Given the description of an element on the screen output the (x, y) to click on. 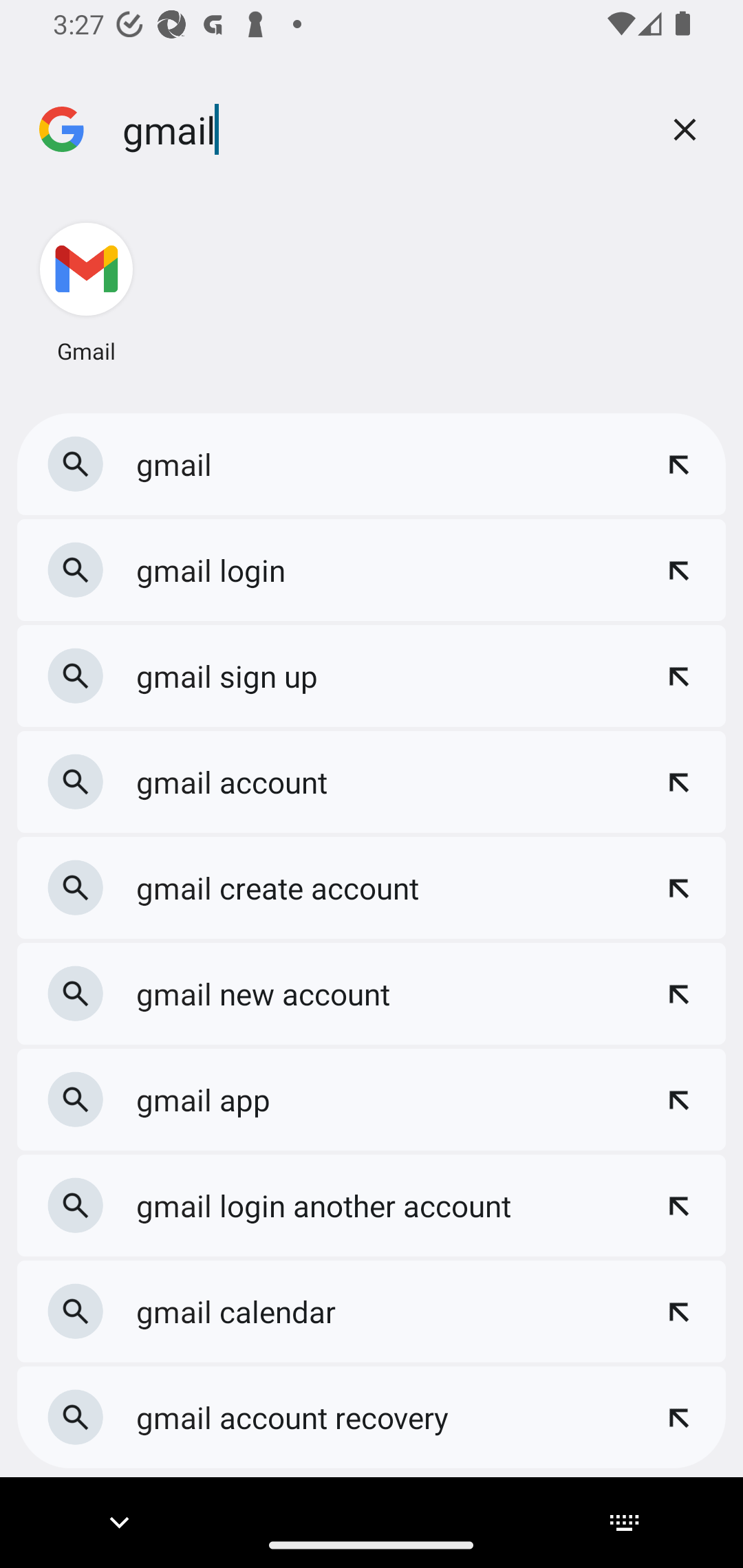
gmail (379, 129)
Clear search box (685, 128)
Gmail (85, 291)
Show predictions for gmail (678, 463)
Show predictions for gmail login (678, 570)
Show predictions for gmail sign up (678, 675)
Show predictions for gmail account (678, 781)
Show predictions for gmail create account (678, 887)
Show predictions for gmail new account (678, 993)
Show predictions for gmail app (678, 1098)
Show predictions for gmail login another account (678, 1205)
Show predictions for gmail calendar (678, 1310)
Show predictions for gmail account recovery (678, 1417)
